Given the description of an element on the screen output the (x, y) to click on. 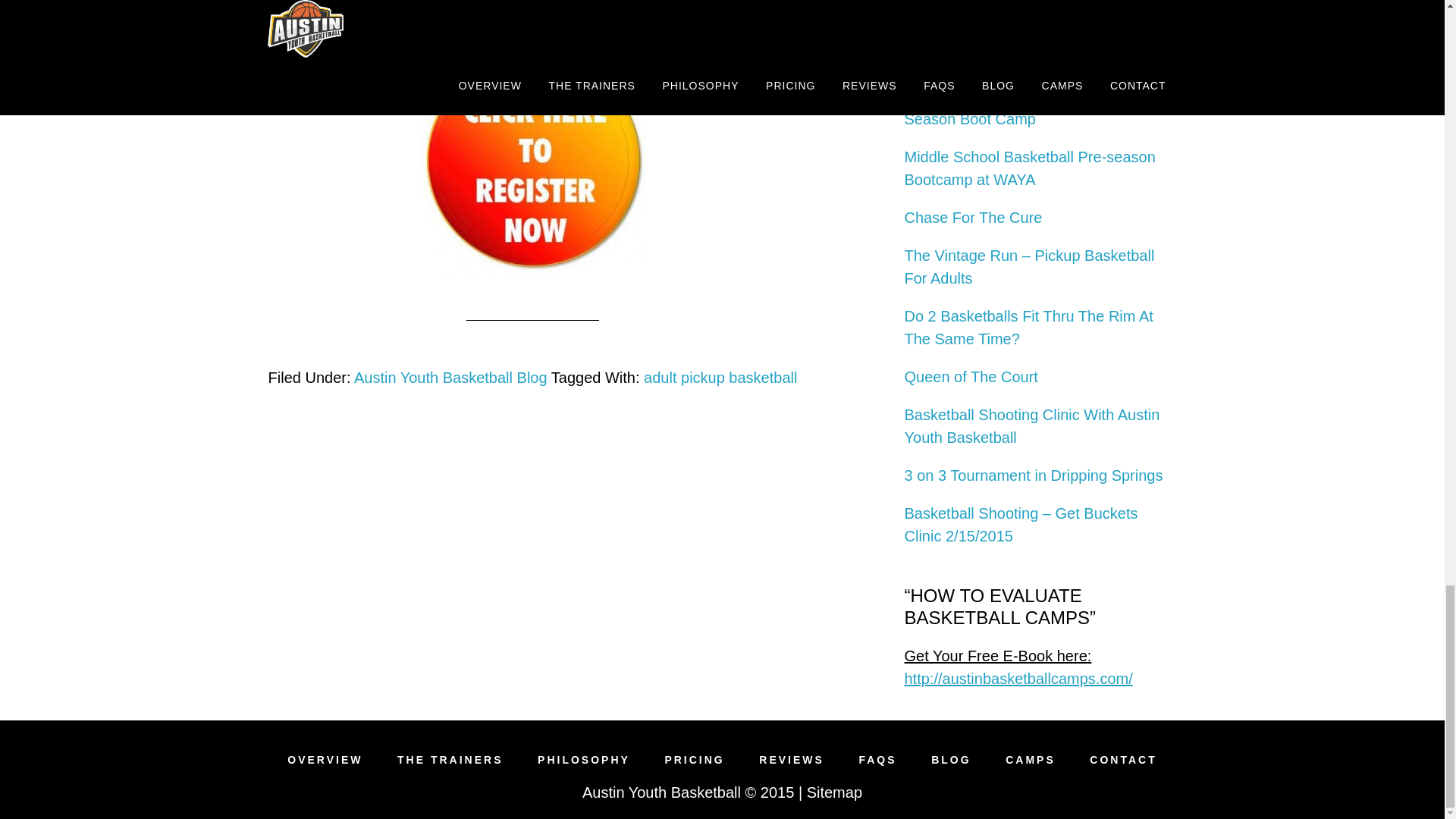
adult pickup basketball (719, 377)
Contact Basketball Trainer Chris Corbett (1122, 759)
Austin Youth Basketball Blog (450, 377)
Austin Basketball Camp (1030, 759)
Basketball Training Philosophy (583, 759)
Basketball Trainers: Meet Them (449, 759)
Austin Youth Basketball Blog (951, 759)
Basketball Training Reviews (791, 759)
